Given the description of an element on the screen output the (x, y) to click on. 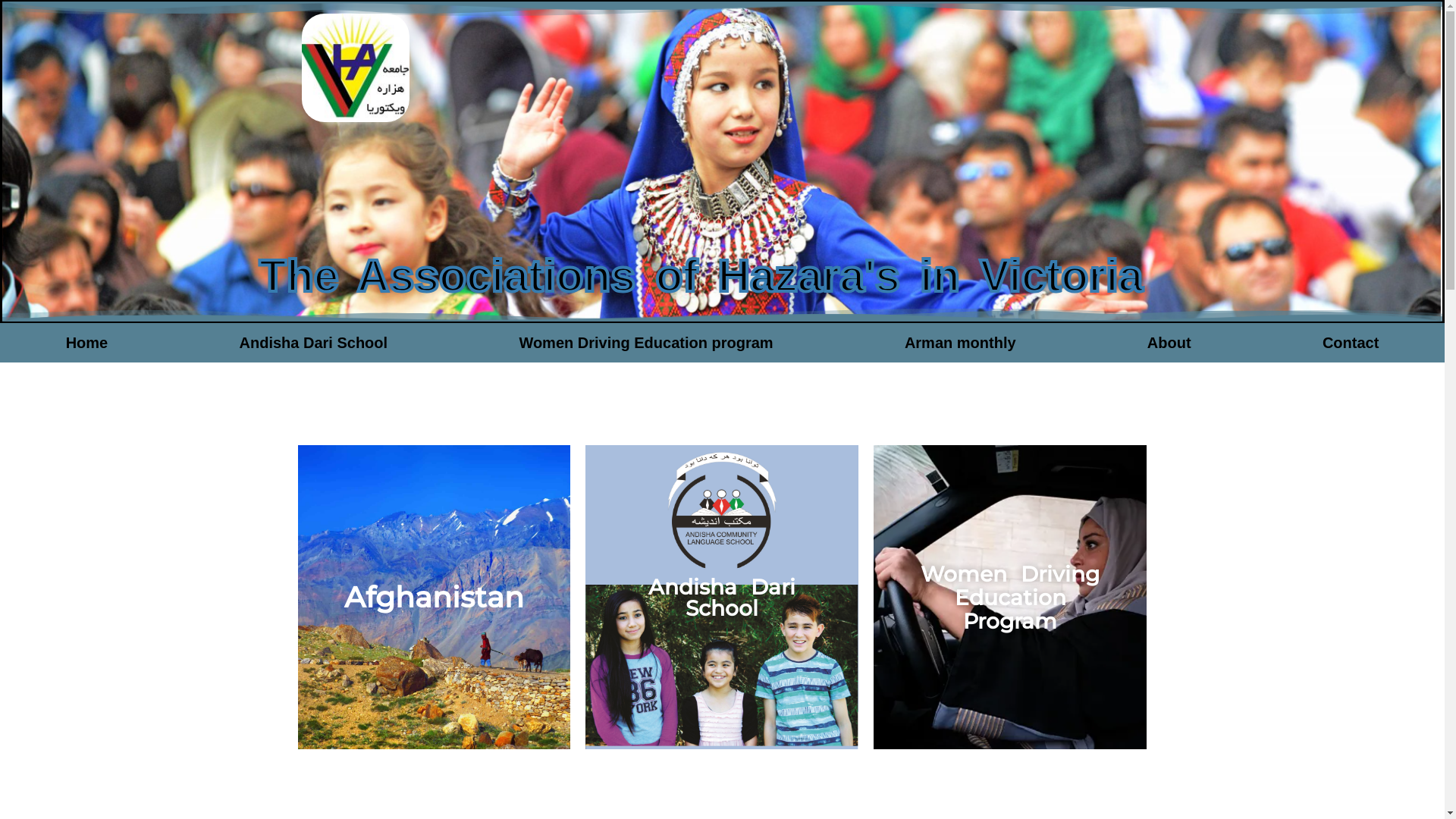
Women Driving Education program Element type: text (646, 342)
Andisha Dari School Element type: text (721, 596)
Andisha Dari School Element type: text (313, 342)
About Element type: text (1168, 342)
Contact Element type: text (1350, 342)
Arman monthly Element type: text (959, 342)
Home Element type: text (86, 342)
Women Driving Education Program Element type: text (1009, 596)
